Given the description of an element on the screen output the (x, y) to click on. 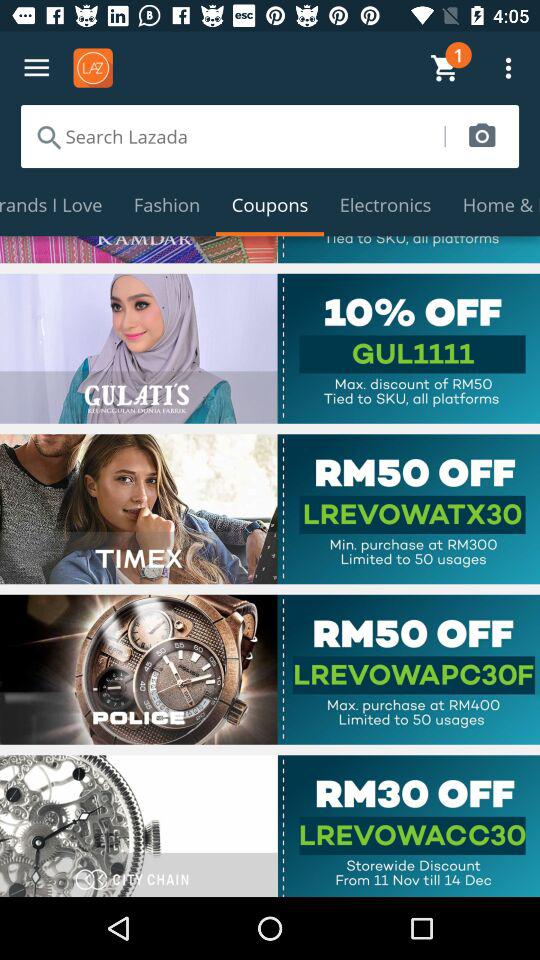
click the icon above the home & living (482, 136)
